Given the description of an element on the screen output the (x, y) to click on. 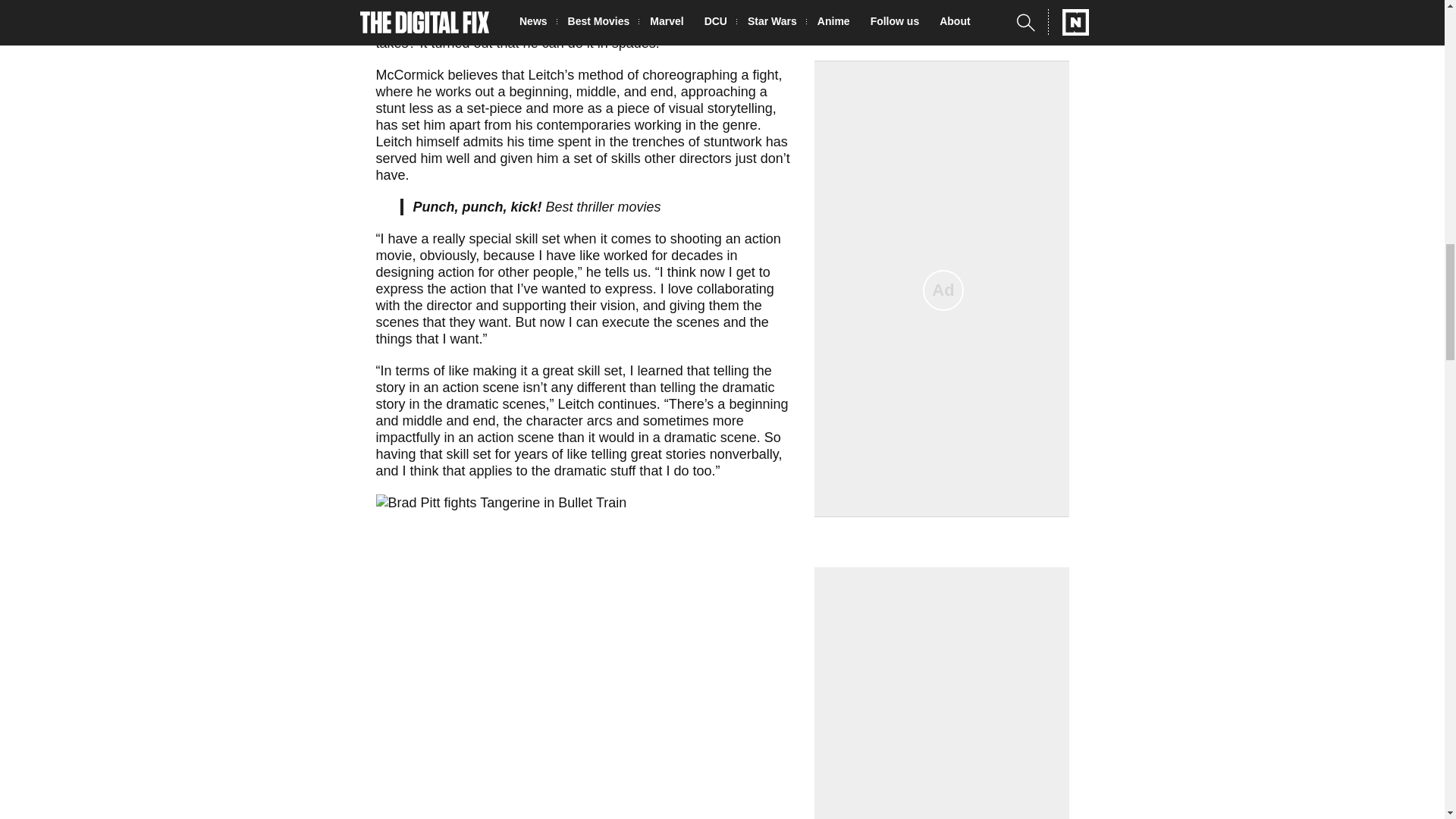
Best thriller movies (603, 206)
